Given the description of an element on the screen output the (x, y) to click on. 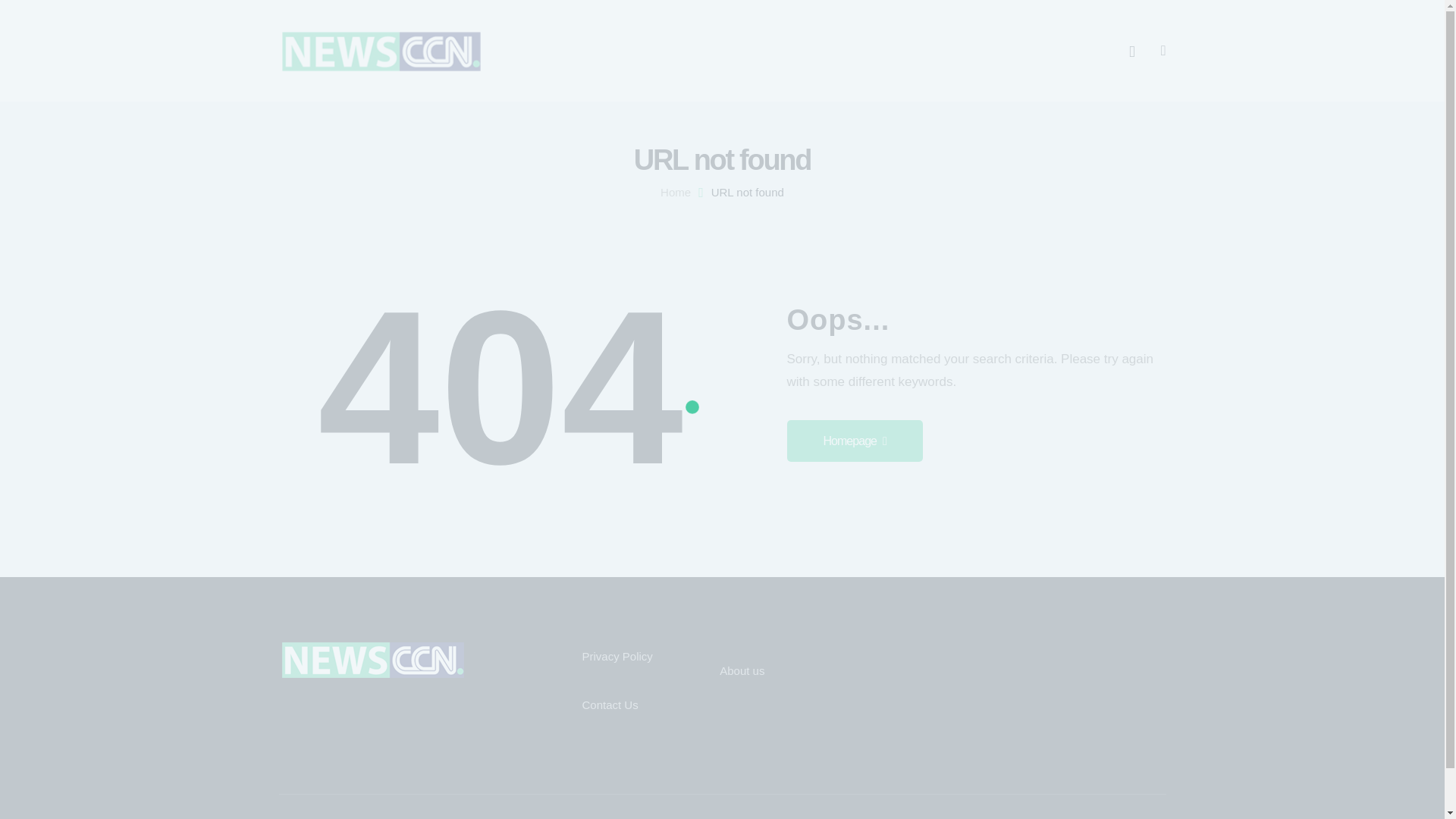
Home (675, 192)
